Given the description of an element on the screen output the (x, y) to click on. 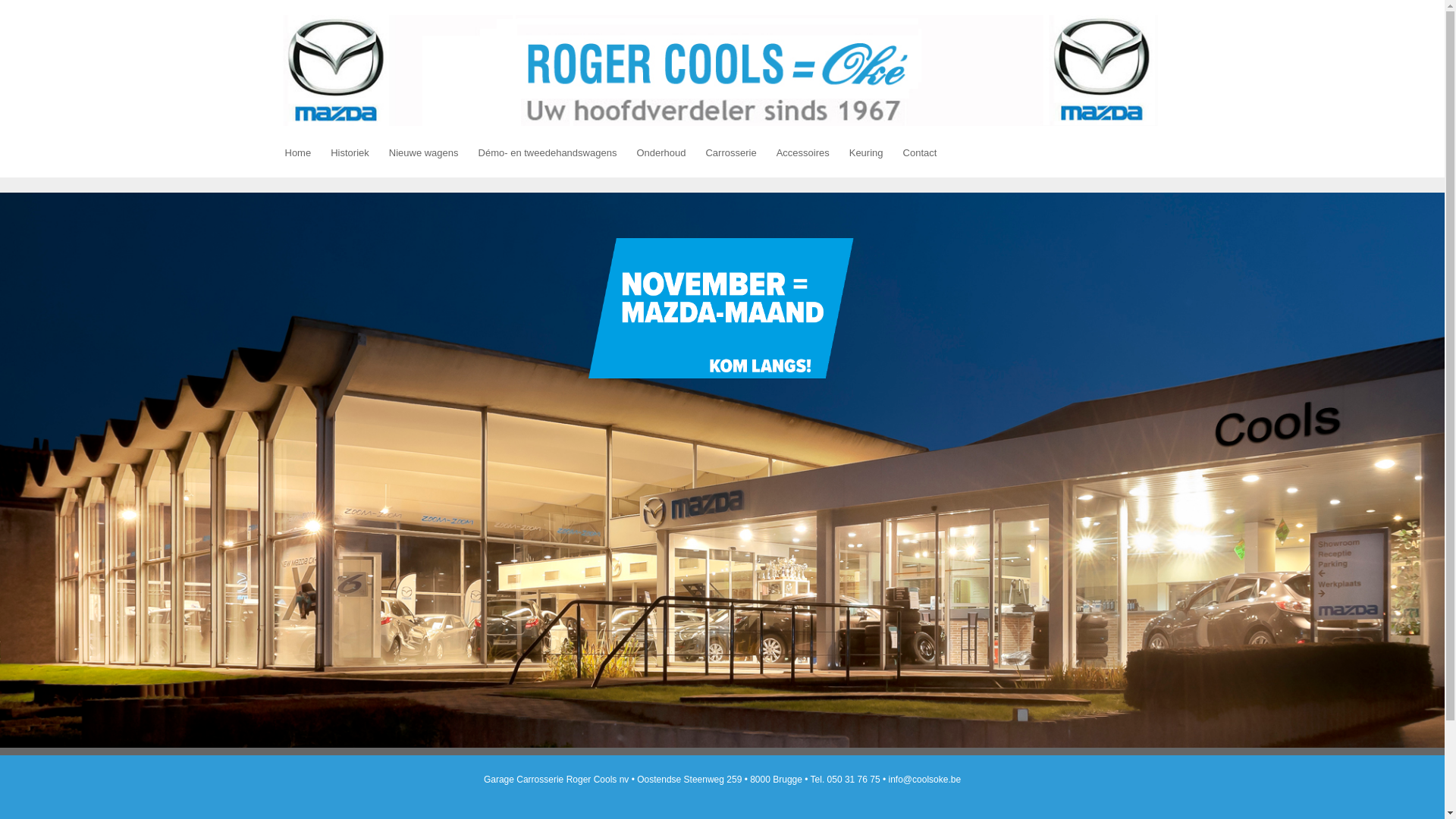
Onderhoud Element type: text (660, 153)
Home Element type: hover (721, 70)
Accessoires Element type: text (802, 153)
Historiek Element type: text (349, 153)
Keuring Element type: text (866, 153)
info@coolsoke.be Element type: text (924, 779)
Contact Element type: text (920, 153)
Nieuwe wagens Element type: text (423, 153)
Home Element type: text (297, 153)
Carrosserie Element type: text (730, 153)
